Given the description of an element on the screen output the (x, y) to click on. 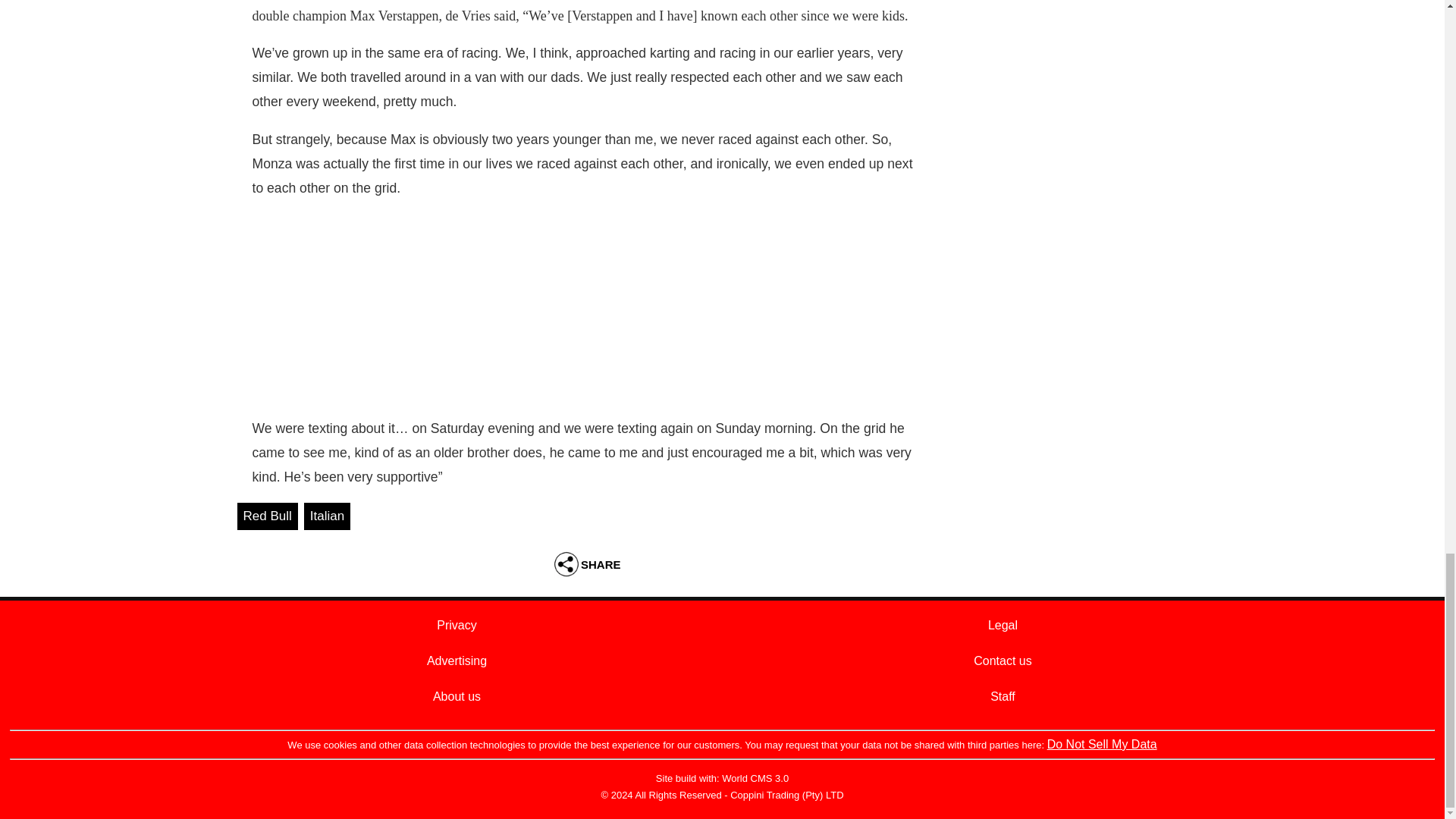
Advertising (456, 660)
Legal (1002, 625)
Red Bull (266, 515)
Privacy (456, 625)
Italian (327, 515)
